Given the description of an element on the screen output the (x, y) to click on. 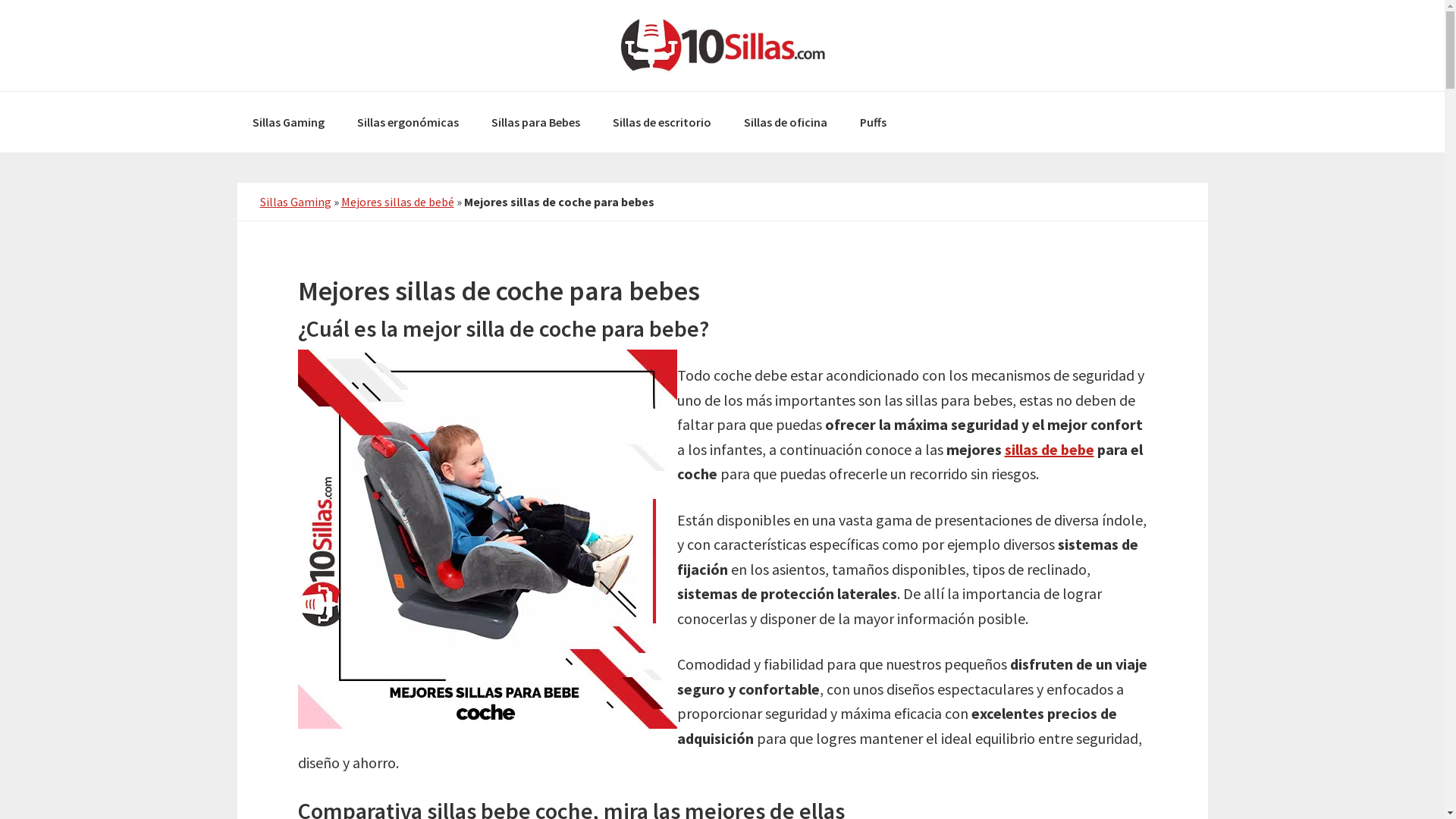
10 Sillas Element type: text (721, 45)
sillas de bebe Element type: text (1048, 448)
Sillas para Bebes Element type: text (535, 121)
Sillas Gaming Element type: text (294, 201)
Sillas de escritorio Element type: text (661, 121)
Sillas Gaming Element type: text (287, 121)
Skip to primary navigation Element type: text (0, 0)
Sillas de oficina Element type: text (784, 121)
Puffs Element type: text (872, 121)
